Given the description of an element on the screen output the (x, y) to click on. 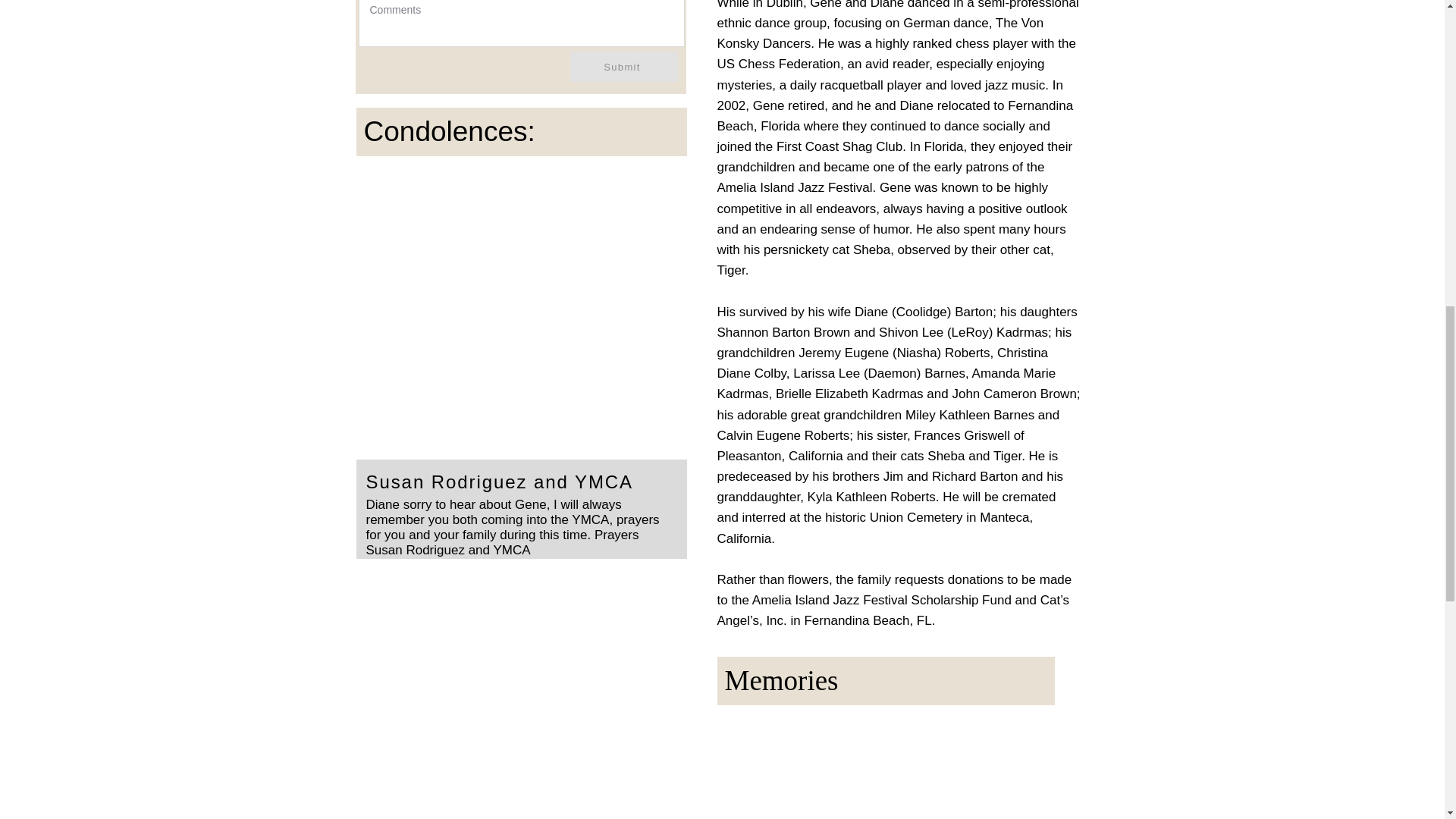
Submit (624, 66)
